Given the description of an element on the screen output the (x, y) to click on. 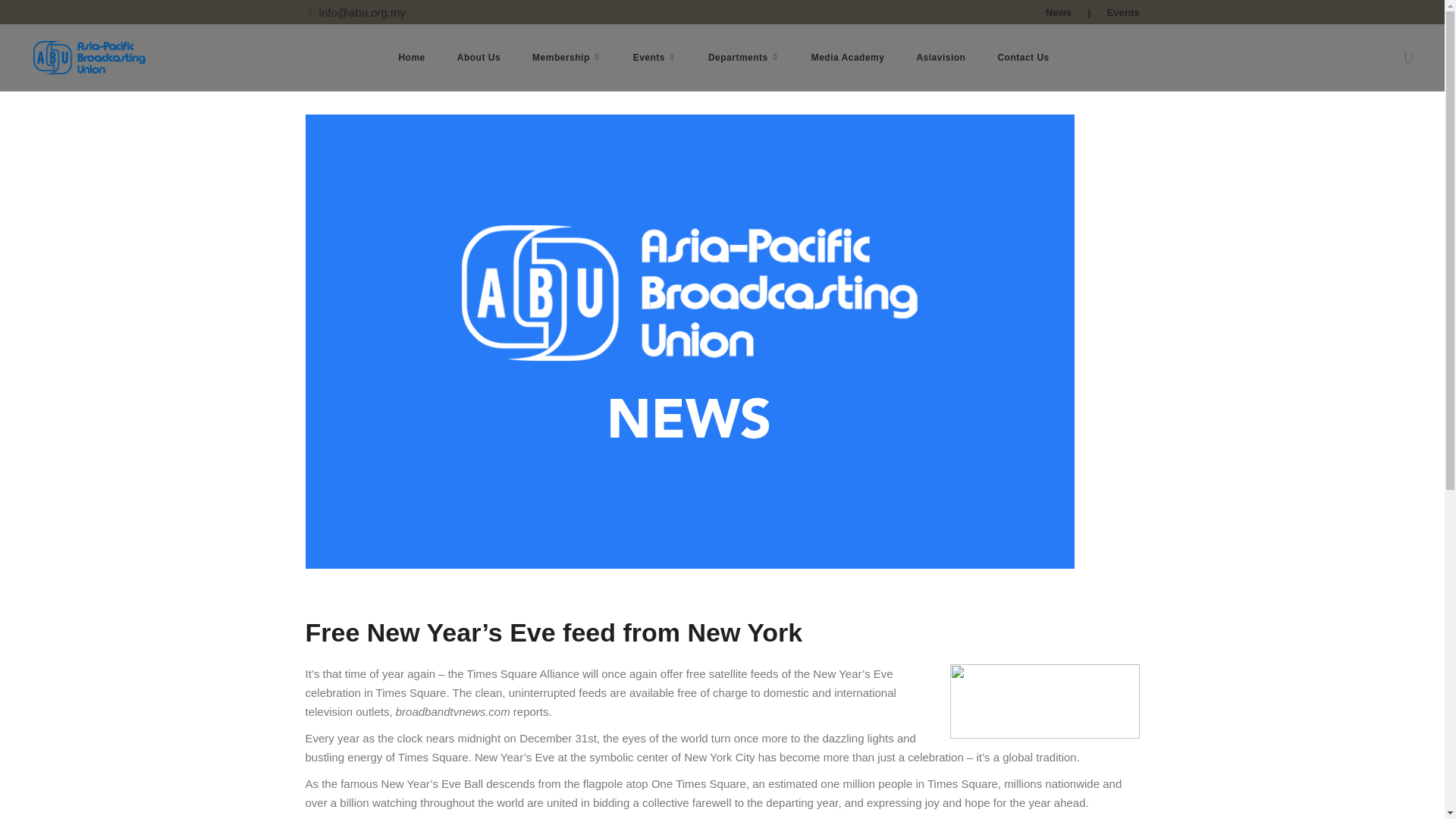
Events (655, 57)
About Us (478, 57)
Contact Us (1022, 57)
U (1072, 426)
News (1058, 12)
Media Academy (847, 57)
Events (1123, 12)
Membership (566, 57)
Asiavision (940, 57)
Departments (743, 57)
